Given the description of an element on the screen output the (x, y) to click on. 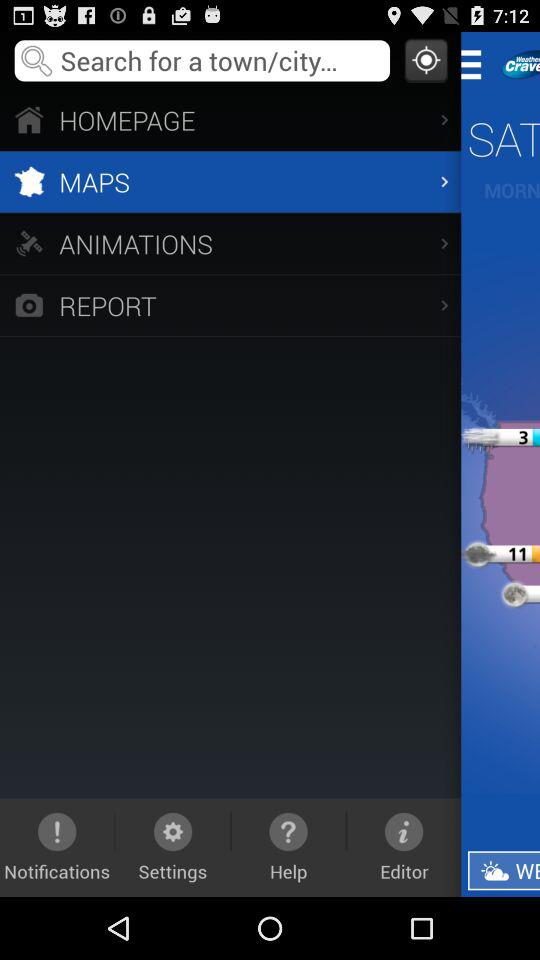
choose icon below maps icon (230, 243)
